Given the description of an element on the screen output the (x, y) to click on. 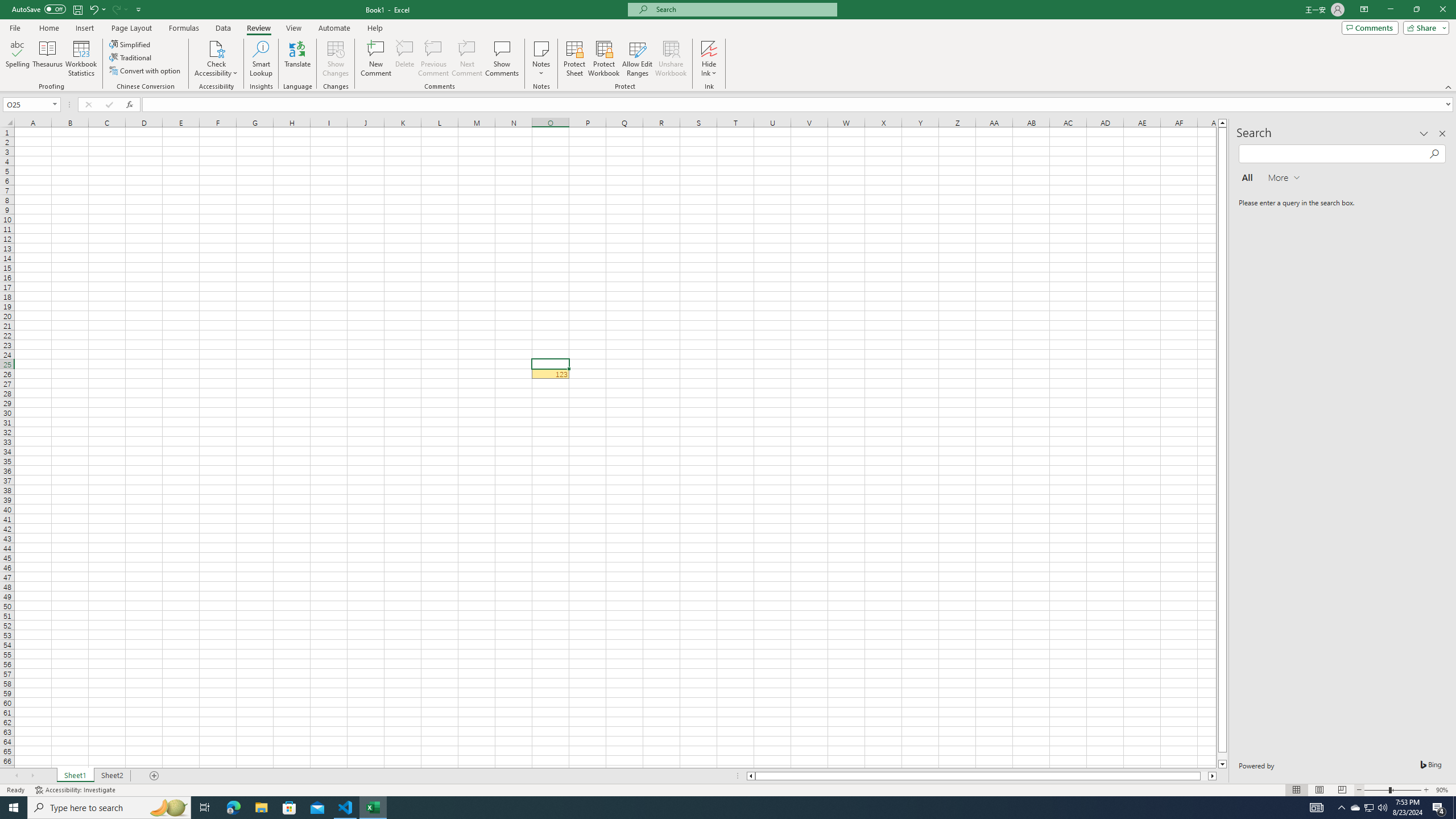
Next Comment (466, 58)
Unshare Workbook (670, 58)
Sheet2 (112, 775)
Protect Workbook... (603, 58)
New Comment (376, 58)
Traditional (131, 56)
